Given the description of an element on the screen output the (x, y) to click on. 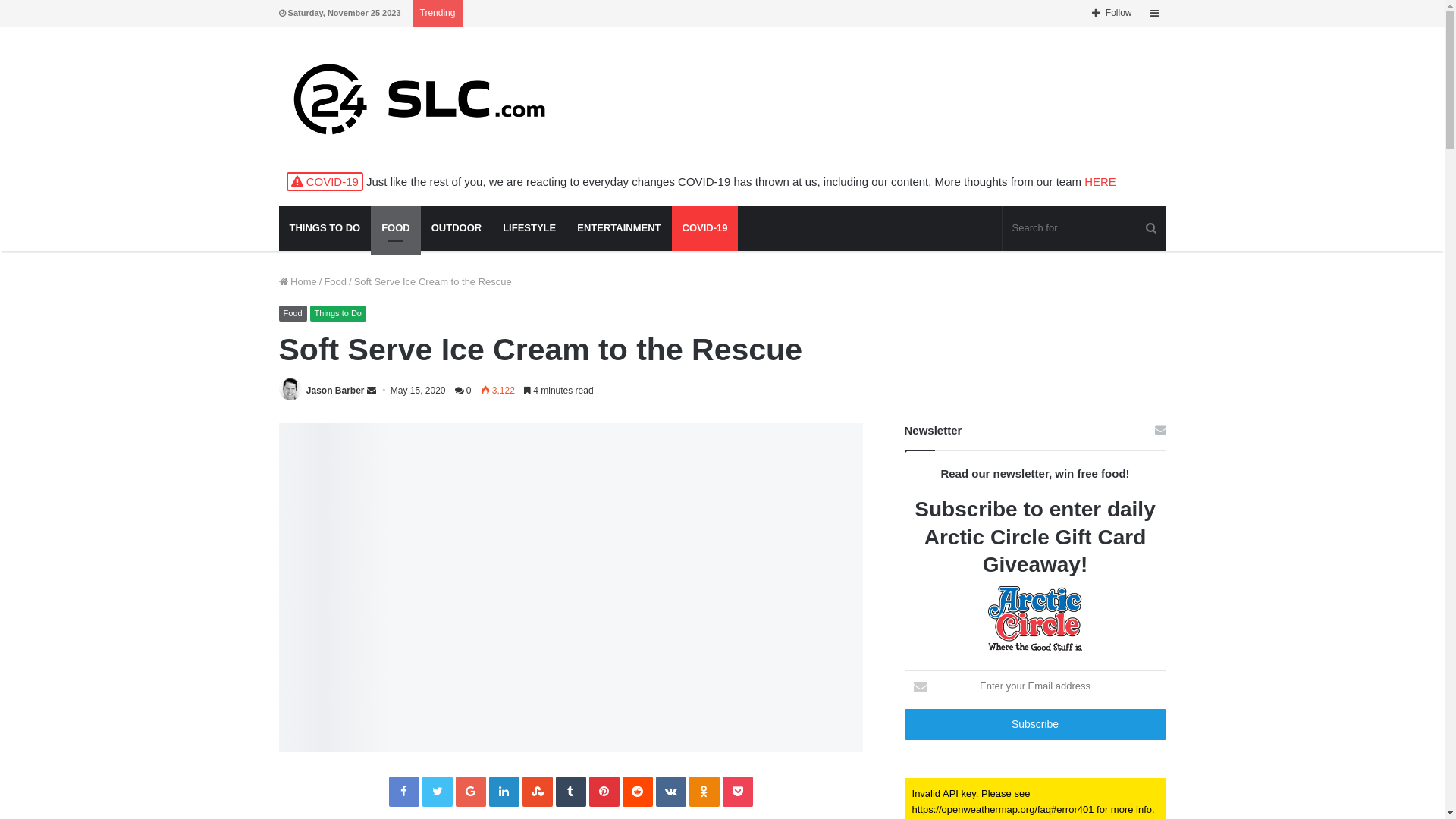
Pocket Element type: text (736, 791)
FOOD Element type: text (395, 228)
Reddit Element type: text (636, 791)
24 Salt Lake City Element type: hover (419, 100)
Food Element type: text (334, 281)
Things to Do Element type: text (338, 312)
Google+ Element type: text (470, 791)
OUTDOOR Element type: text (456, 228)
Odnoklassniki Element type: text (703, 791)
Search for Element type: hover (1084, 228)
Follow Element type: text (1111, 13)
HERE Element type: text (1100, 181)
Food Element type: text (293, 312)
Facebook Element type: text (403, 791)
Sidebar Element type: text (1154, 13)
Subscribe Element type: text (1035, 724)
ENTERTAINMENT Element type: text (618, 228)
0 Element type: text (463, 390)
VKontakte Element type: text (670, 791)
COVID-19 Element type: text (324, 181)
Home Element type: text (297, 281)
StumbleUpon Element type: text (536, 791)
LIFESTYLE Element type: text (529, 228)
Jason Barber Element type: text (335, 390)
Pinterest Element type: text (603, 791)
Tumblr Element type: text (570, 791)
Twitter Element type: text (436, 791)
COVID-19 Element type: text (704, 228)
LinkedIn Element type: text (503, 791)
THINGS TO DO Element type: text (325, 228)
